Given the description of an element on the screen output the (x, y) to click on. 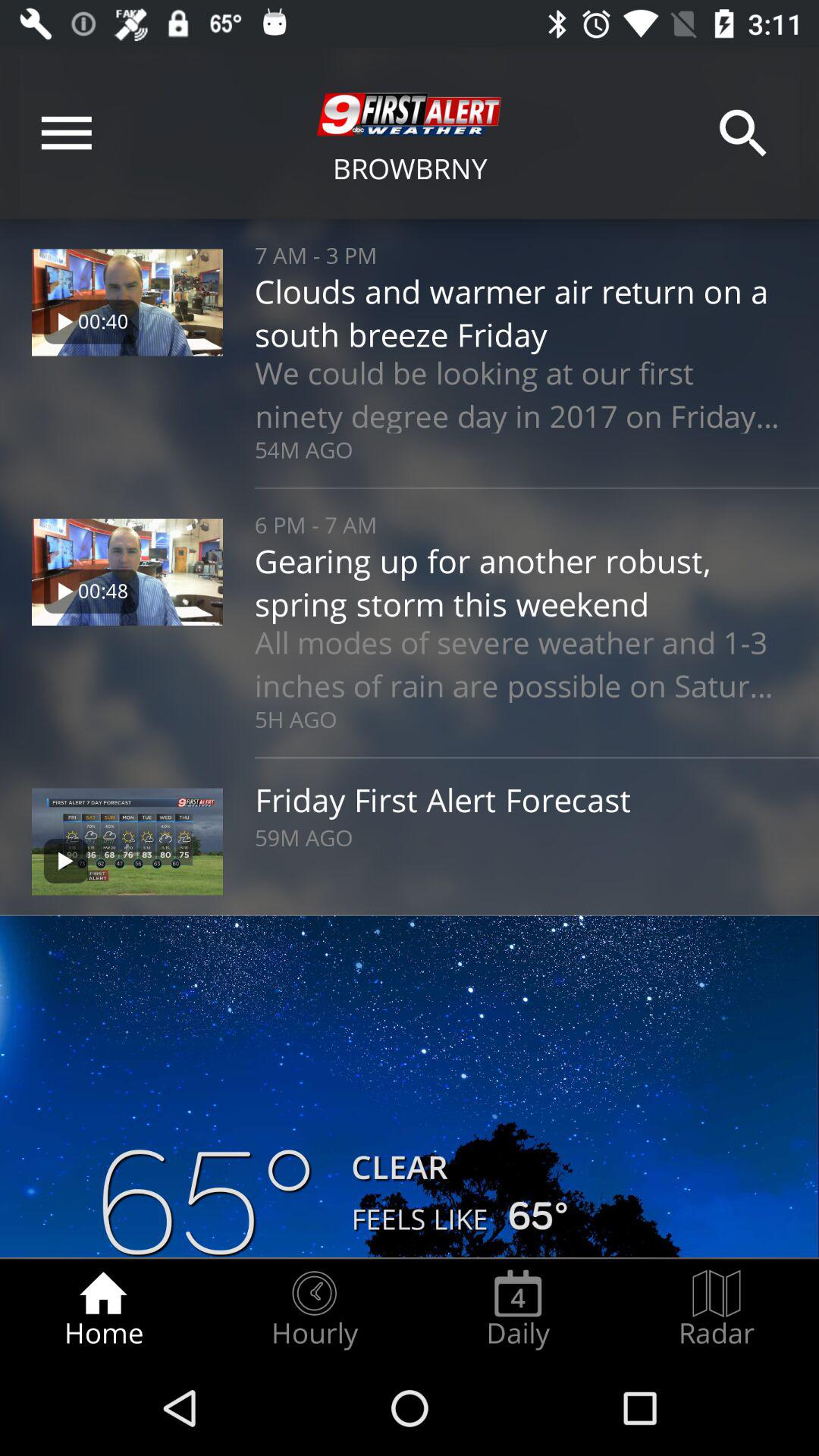
launch the icon next to the hourly (103, 1309)
